Given the description of an element on the screen output the (x, y) to click on. 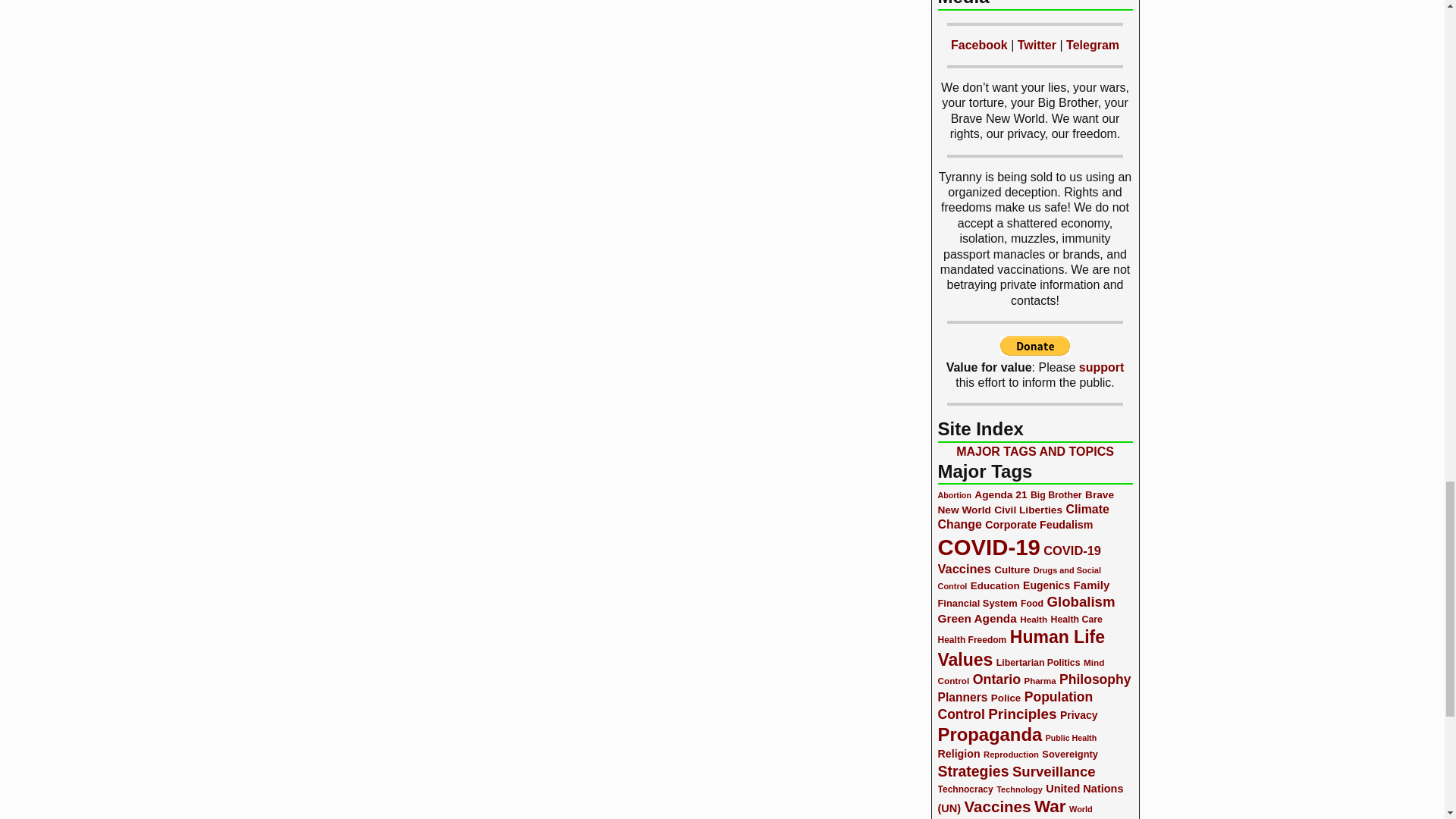
Telegram (1092, 44)
Facebook (978, 44)
Twitter (1037, 44)
